Given the description of an element on the screen output the (x, y) to click on. 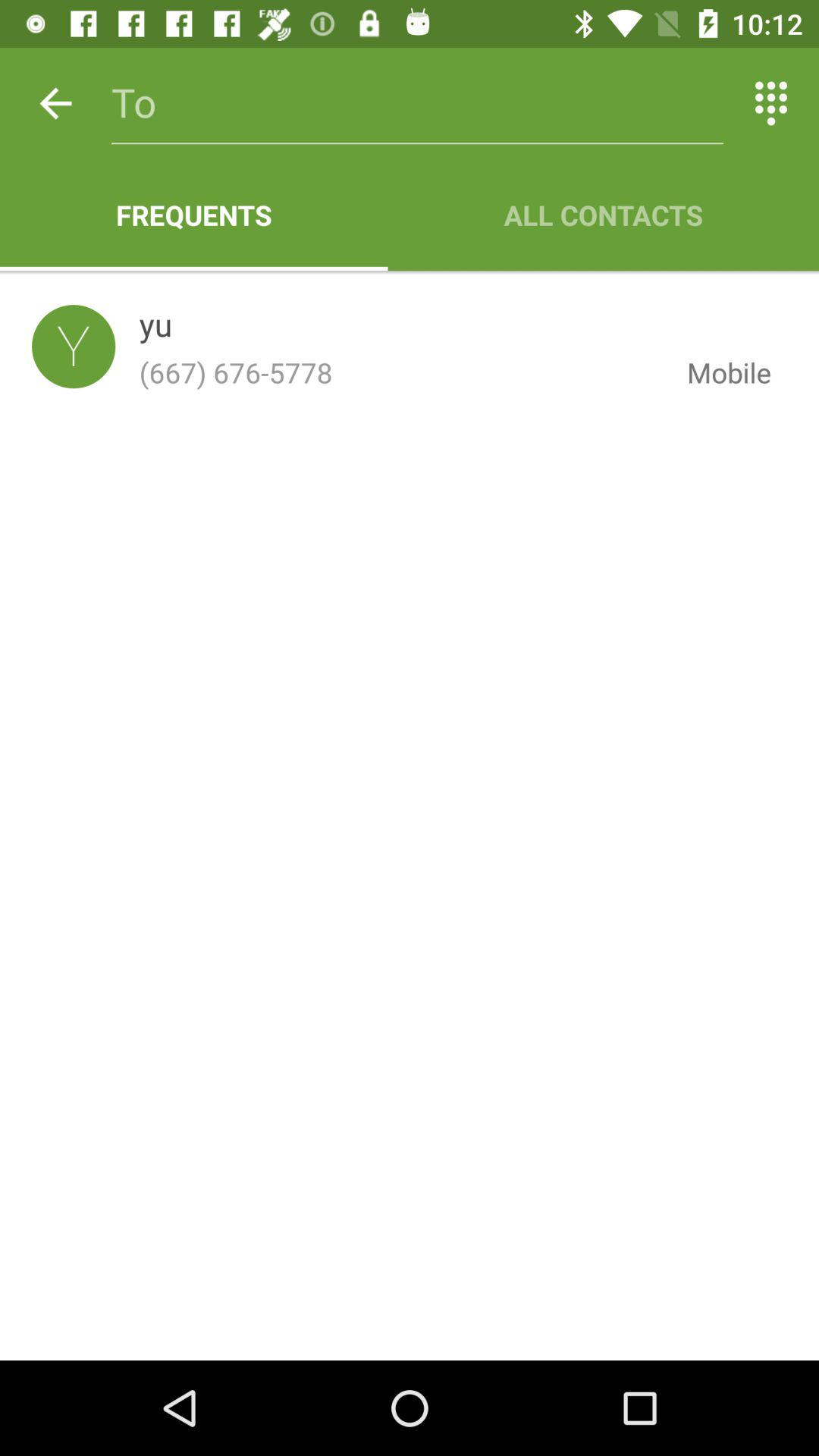
launch app above the frequents item (55, 103)
